Given the description of an element on the screen output the (x, y) to click on. 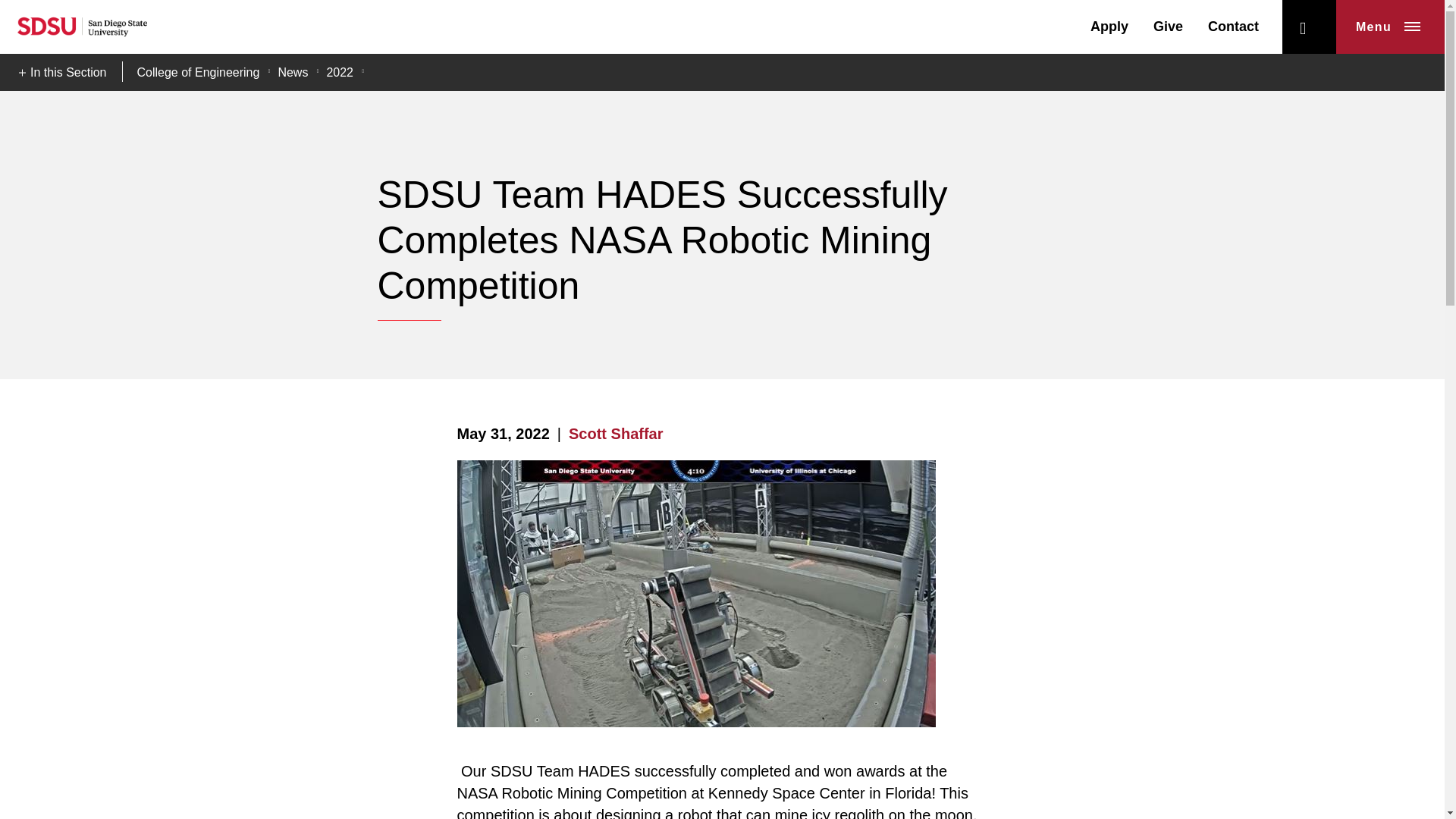
Apply (1109, 26)
Give (1167, 26)
open (1309, 27)
Contact (1233, 26)
